Given the description of an element on the screen output the (x, y) to click on. 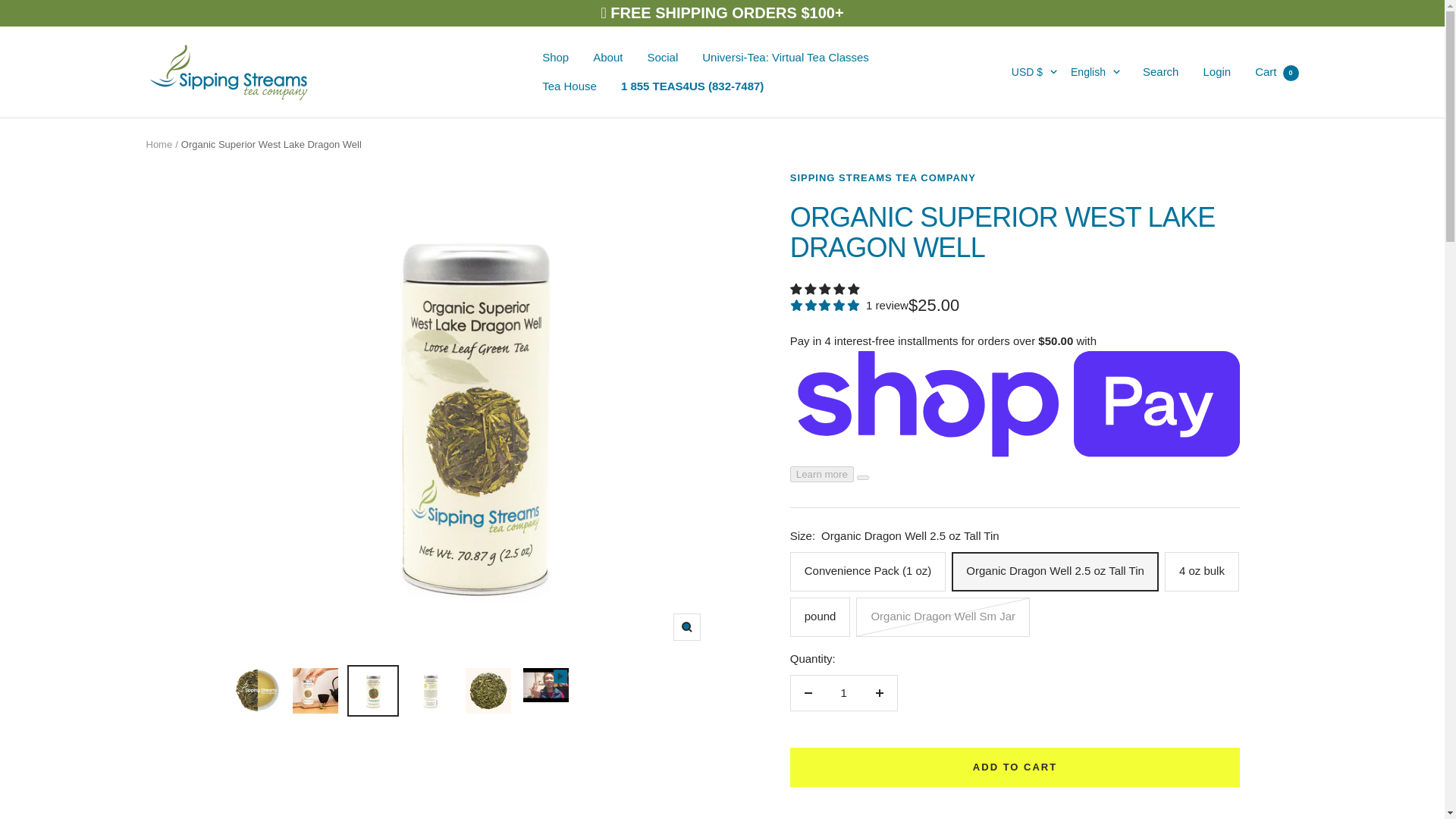
CZK (1017, 723)
DJF (1017, 749)
AMD (1017, 199)
AZN (1017, 299)
Tea House (568, 86)
About (607, 57)
BIF (1017, 424)
